Given the description of an element on the screen output the (x, y) to click on. 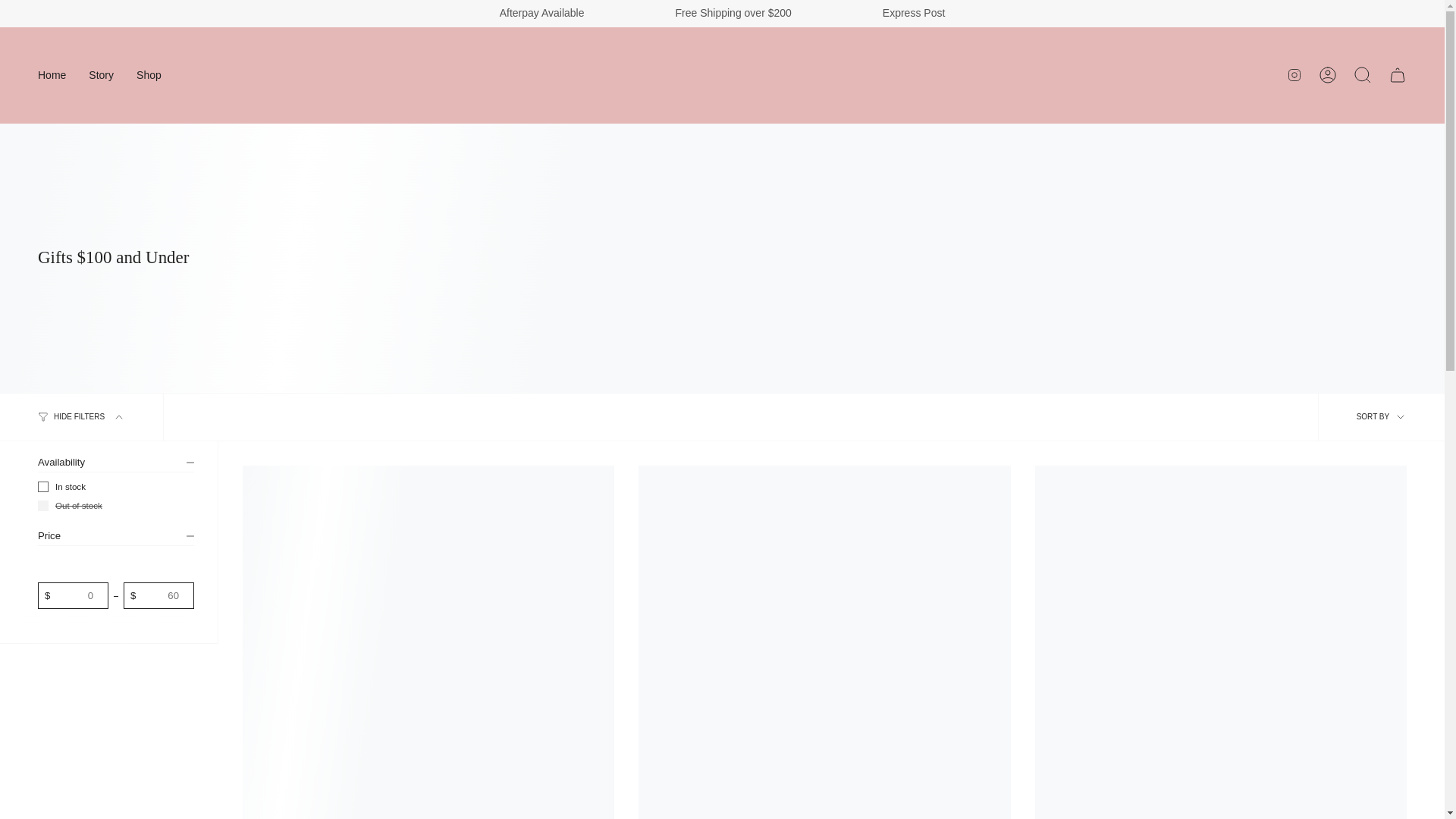
Cart (1397, 74)
Cart (1397, 74)
Bobo Charlesworth on Instagram (1294, 74)
Account (1327, 74)
Search (1362, 74)
Instagram (1294, 74)
My Account (1327, 74)
HIDE FILTERS (81, 416)
